Given the description of an element on the screen output the (x, y) to click on. 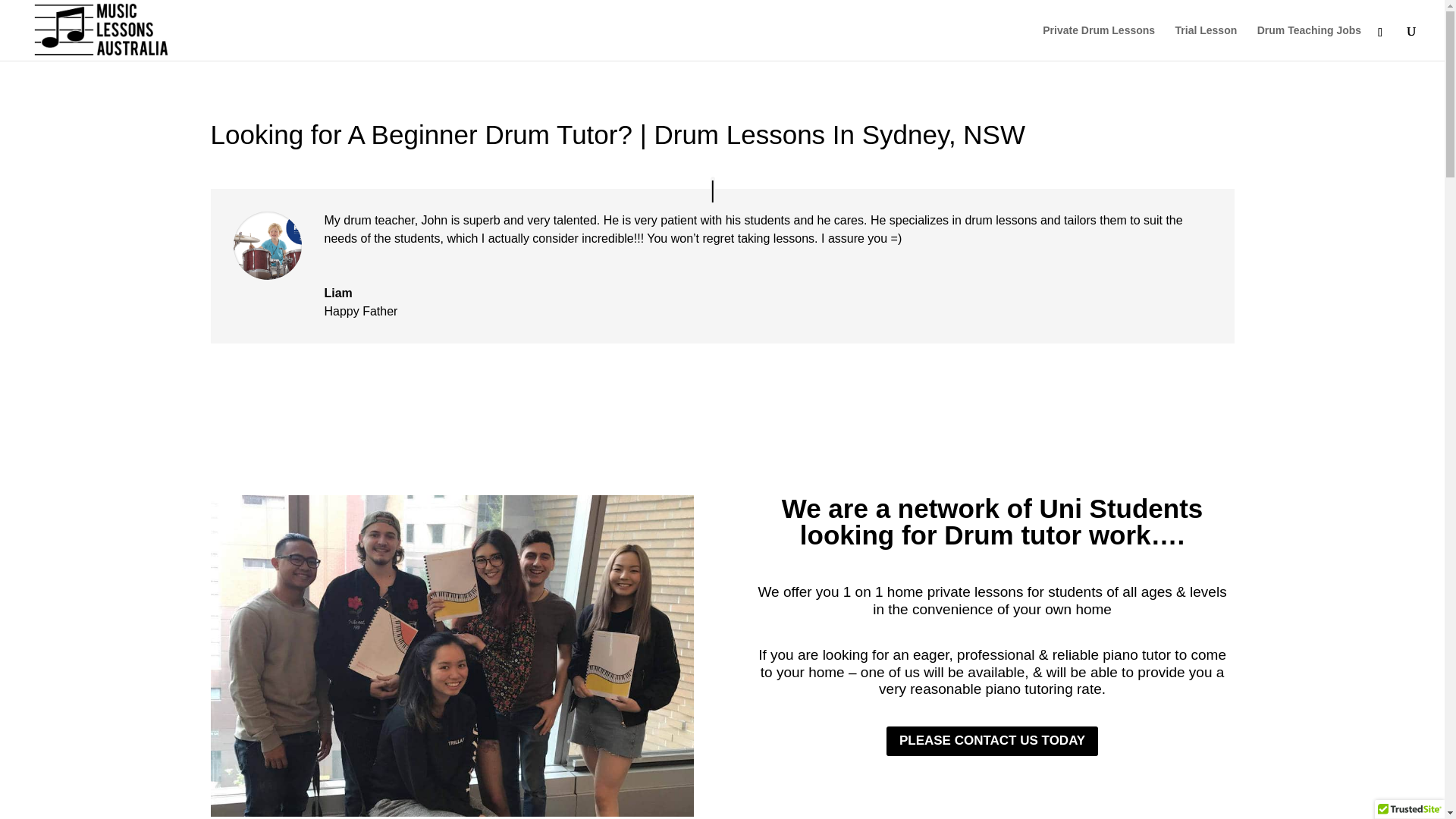
Trial Lesson (1205, 42)
Drum Teaching Jobs (1309, 42)
PLEASE CONTACT US TODAY (991, 740)
Private Drum Lessons (1098, 42)
